Given the description of an element on the screen output the (x, y) to click on. 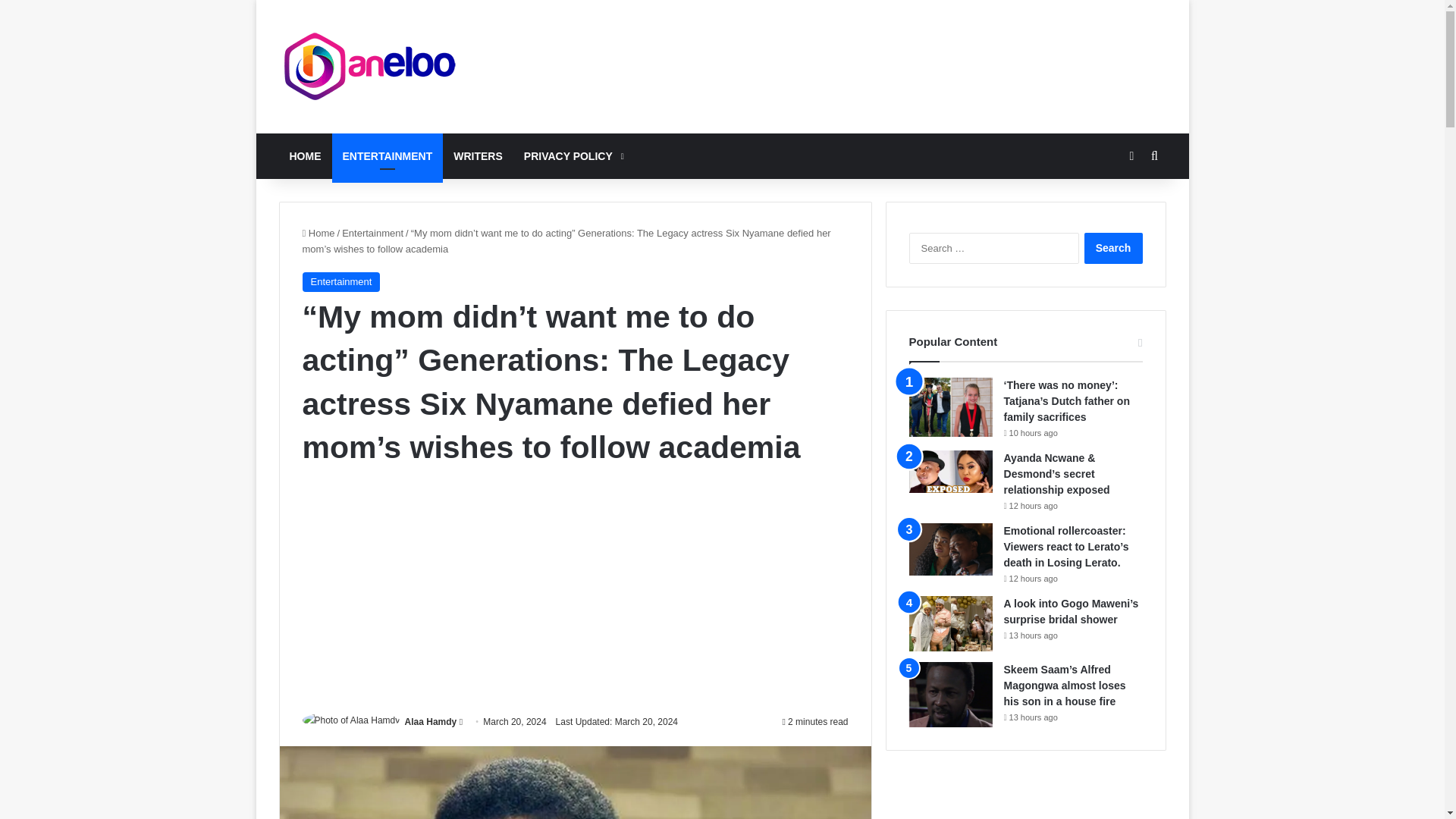
Search (1113, 247)
WRITERS (477, 156)
Search (1113, 247)
ENTERTAINMENT (387, 156)
Daneloo (370, 66)
Alaa Hamdy (430, 721)
PRIVACY POLICY (572, 156)
Advertisement (574, 591)
Home (317, 233)
Entertainment (340, 281)
Entertainment (372, 233)
HOME (305, 156)
Alaa Hamdy (430, 721)
Search (1113, 247)
